Given the description of an element on the screen output the (x, y) to click on. 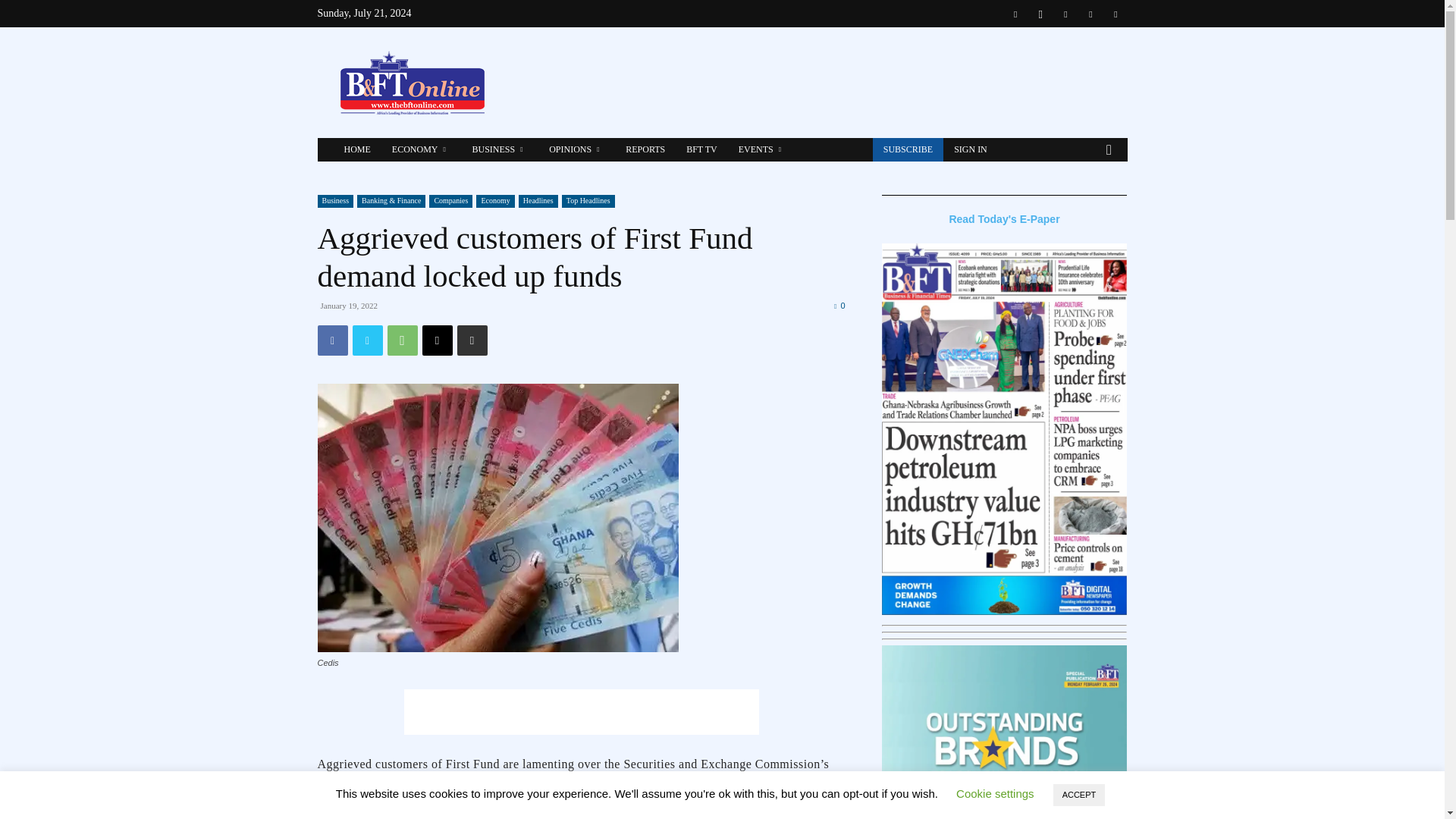
Twitter (366, 340)
Facebook (332, 340)
WhatsApp (401, 340)
